Given the description of an element on the screen output the (x, y) to click on. 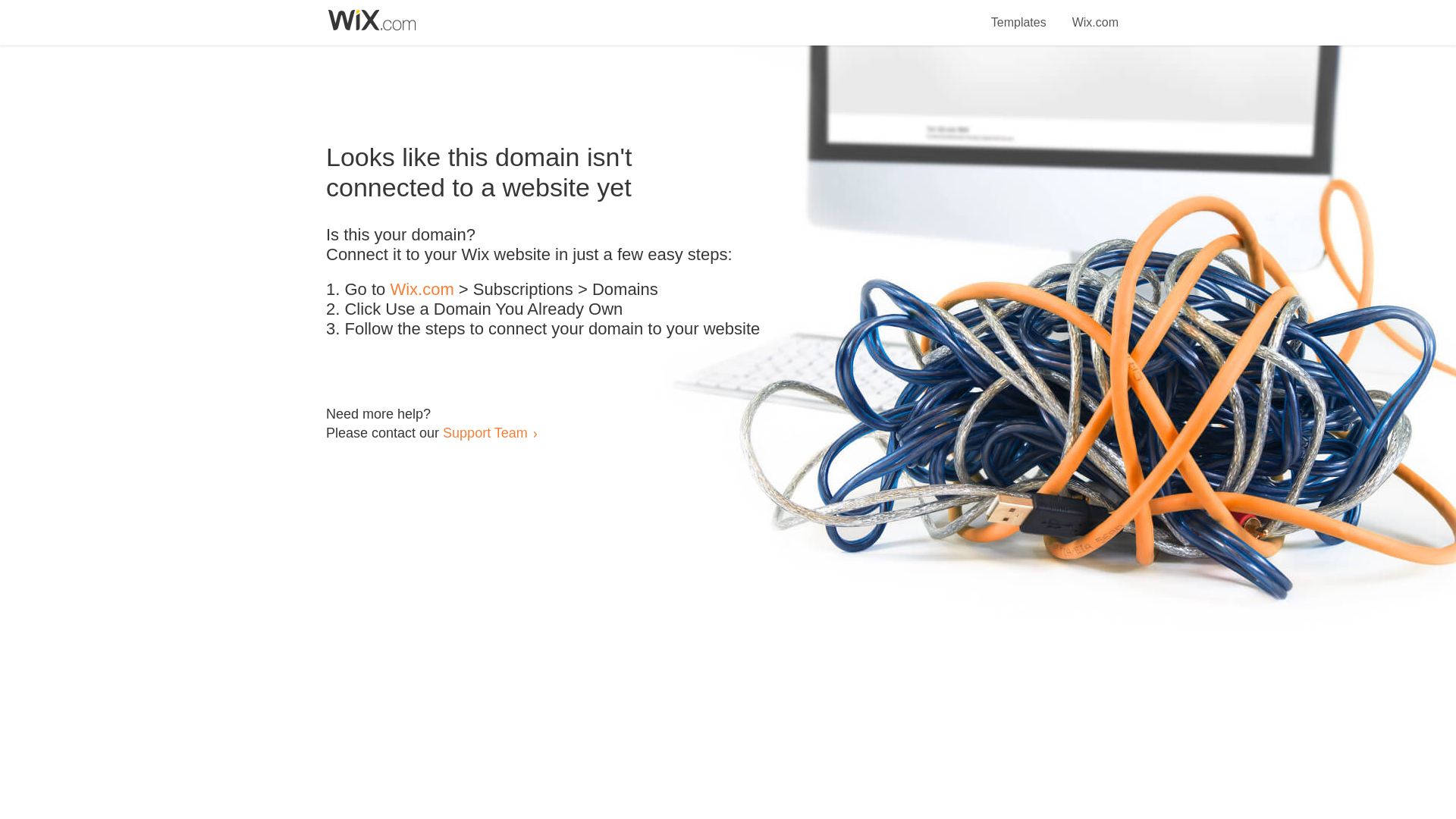
Support Team (484, 432)
Wix.com (1095, 14)
Templates (1018, 14)
Wix.com (421, 289)
